Given the description of an element on the screen output the (x, y) to click on. 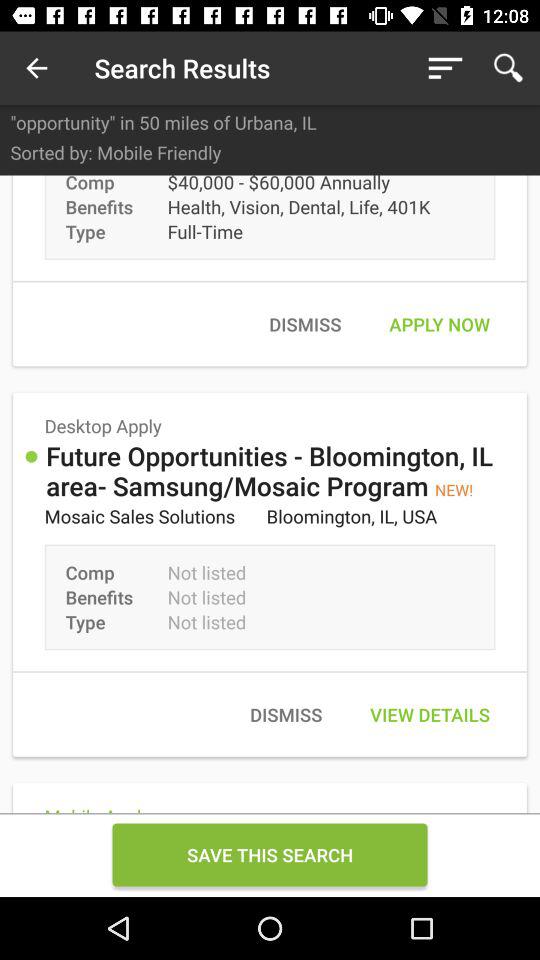
choose icon to the right of search results item (444, 67)
